Given the description of an element on the screen output the (x, y) to click on. 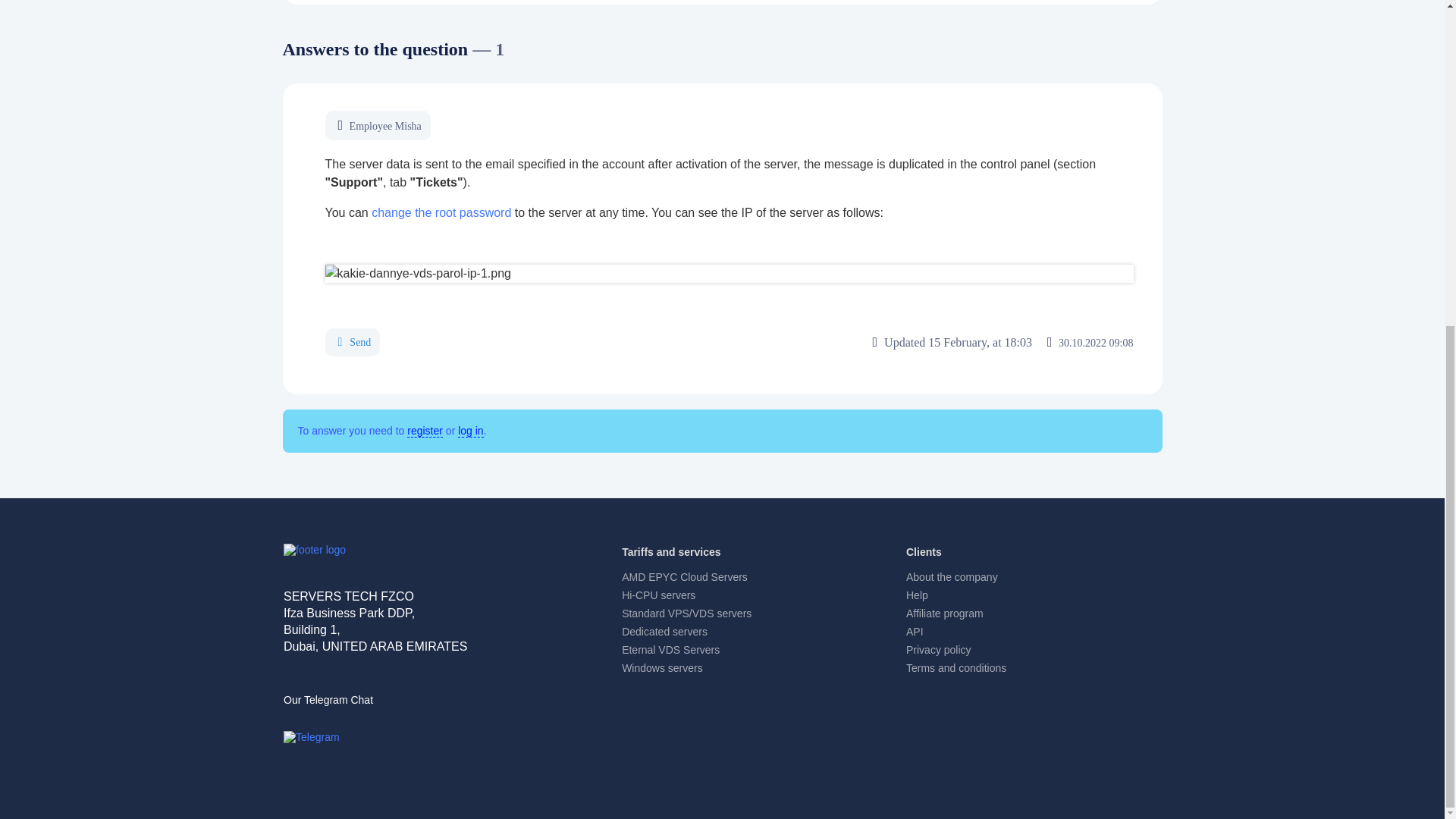
Send (352, 342)
kakie-dannye-vds-parol-ip-1.png (728, 273)
log in (470, 431)
register (424, 431)
change the root password (441, 212)
